Given the description of an element on the screen output the (x, y) to click on. 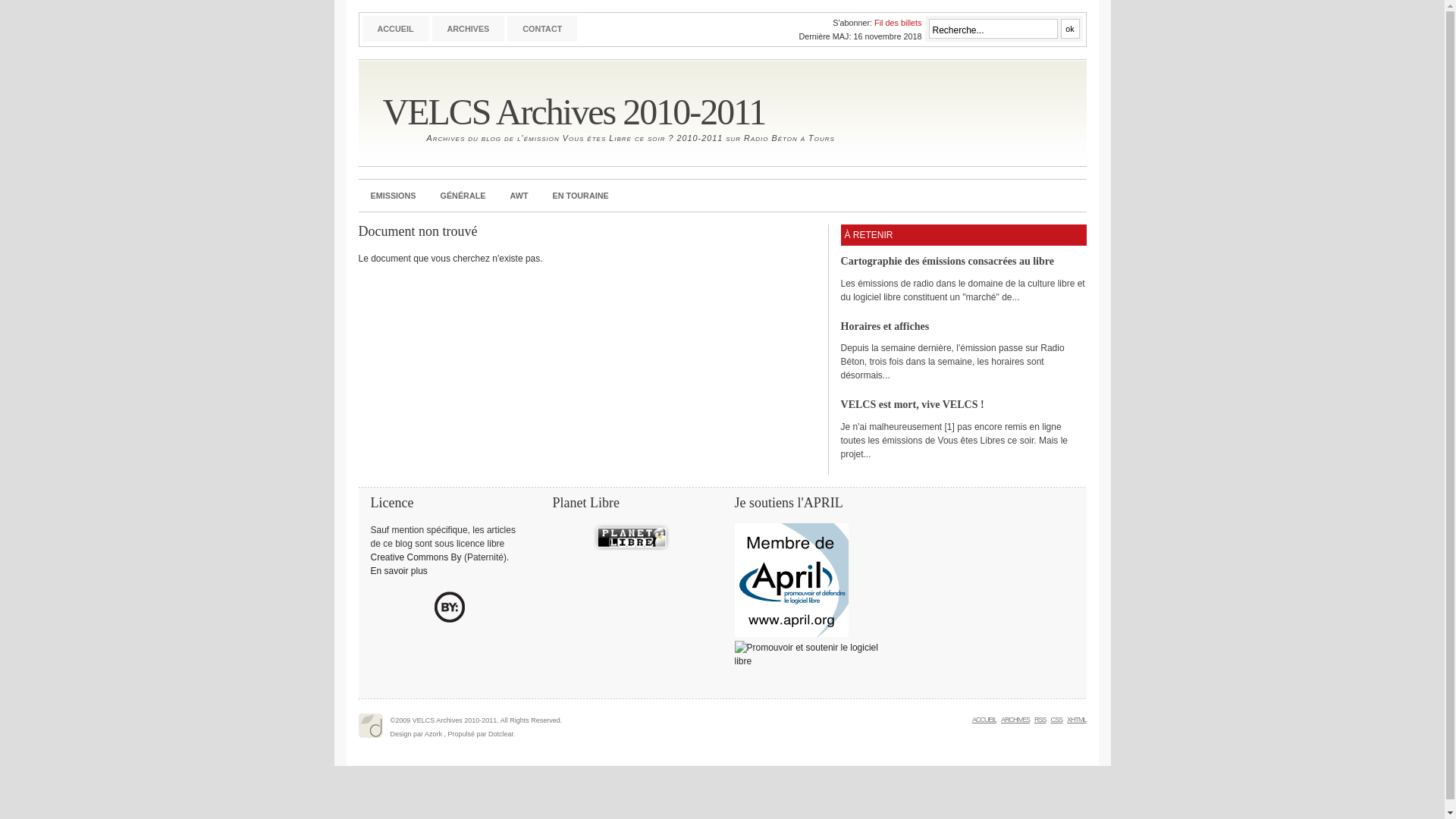
ACCUEIL Element type: text (984, 719)
EN TOURAINE Element type: text (579, 195)
CONTACT Element type: text (542, 28)
ARCHIVES Element type: text (468, 28)
ARCHIVES Element type: text (1015, 719)
XHTML Element type: text (1076, 719)
Dotclear Element type: text (500, 733)
Horaires et affiches Element type: text (884, 326)
RSS Element type: text (1040, 719)
VELCS est mort, vive VELCS ! Element type: text (911, 404)
En savoir plus Element type: text (398, 570)
AWT Element type: text (518, 195)
Azork Element type: text (433, 733)
CSS Element type: text (1056, 719)
Creative Commons By Element type: text (415, 557)
ok Element type: text (1069, 28)
Dotclear Element type: hover (369, 725)
Fil des billets Element type: text (897, 22)
EMISSIONS Element type: text (392, 195)
ACCUEIL Element type: text (395, 28)
VELCS Archives 2010-2011 Element type: text (573, 111)
